Given the description of an element on the screen output the (x, y) to click on. 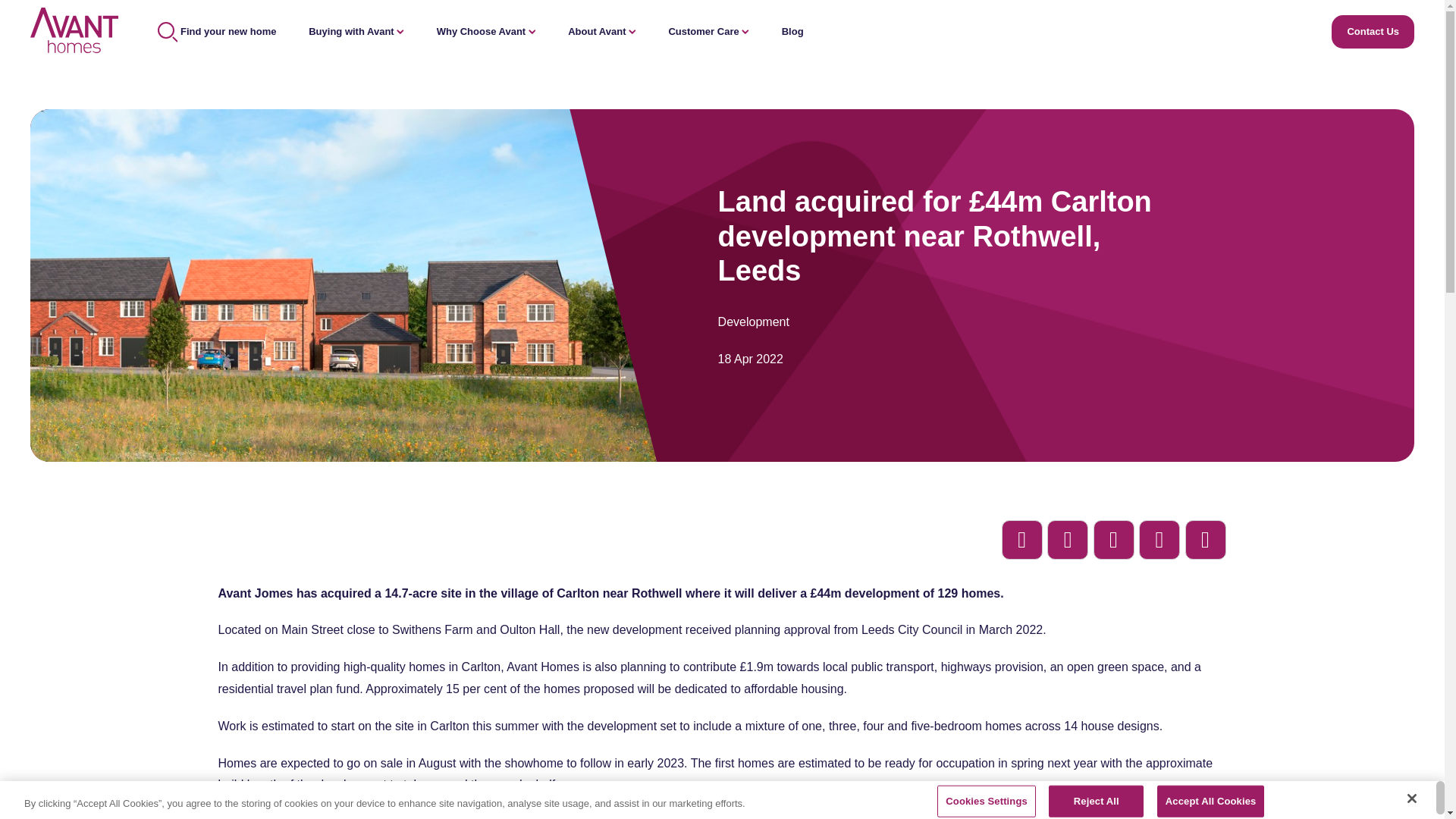
Customer Care (708, 30)
Blog (792, 30)
About Avant (601, 30)
Find your new home (216, 30)
Contact Us (1372, 31)
Buying with Avant (356, 30)
Why Choose Avant (485, 30)
